Given the description of an element on the screen output the (x, y) to click on. 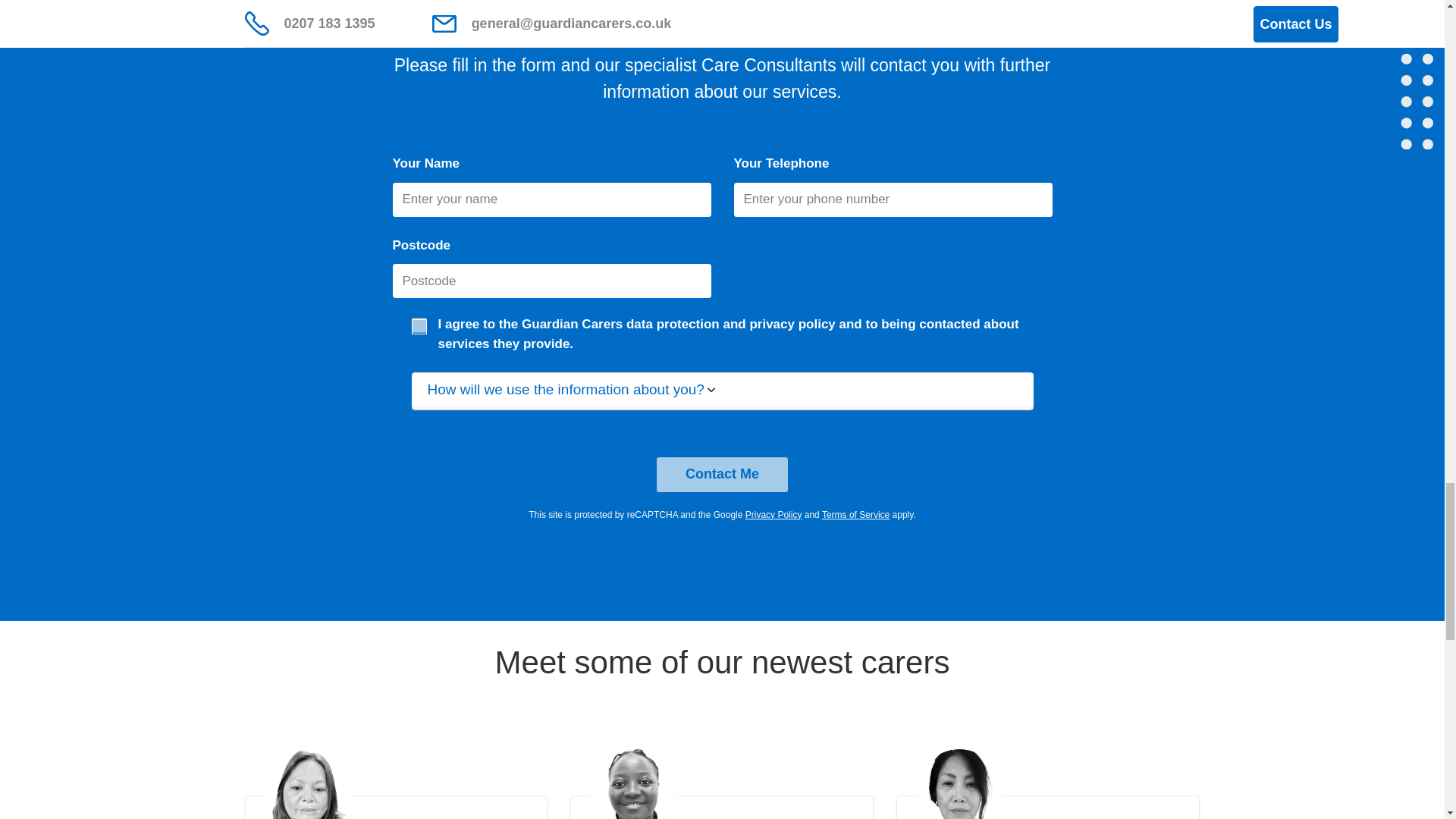
How will we use the information about you? (722, 390)
data protection and privacy policy (730, 323)
Privacy Policy (773, 514)
Contact Me (722, 474)
Terms of Service (855, 514)
accept (418, 324)
